Given the description of an element on the screen output the (x, y) to click on. 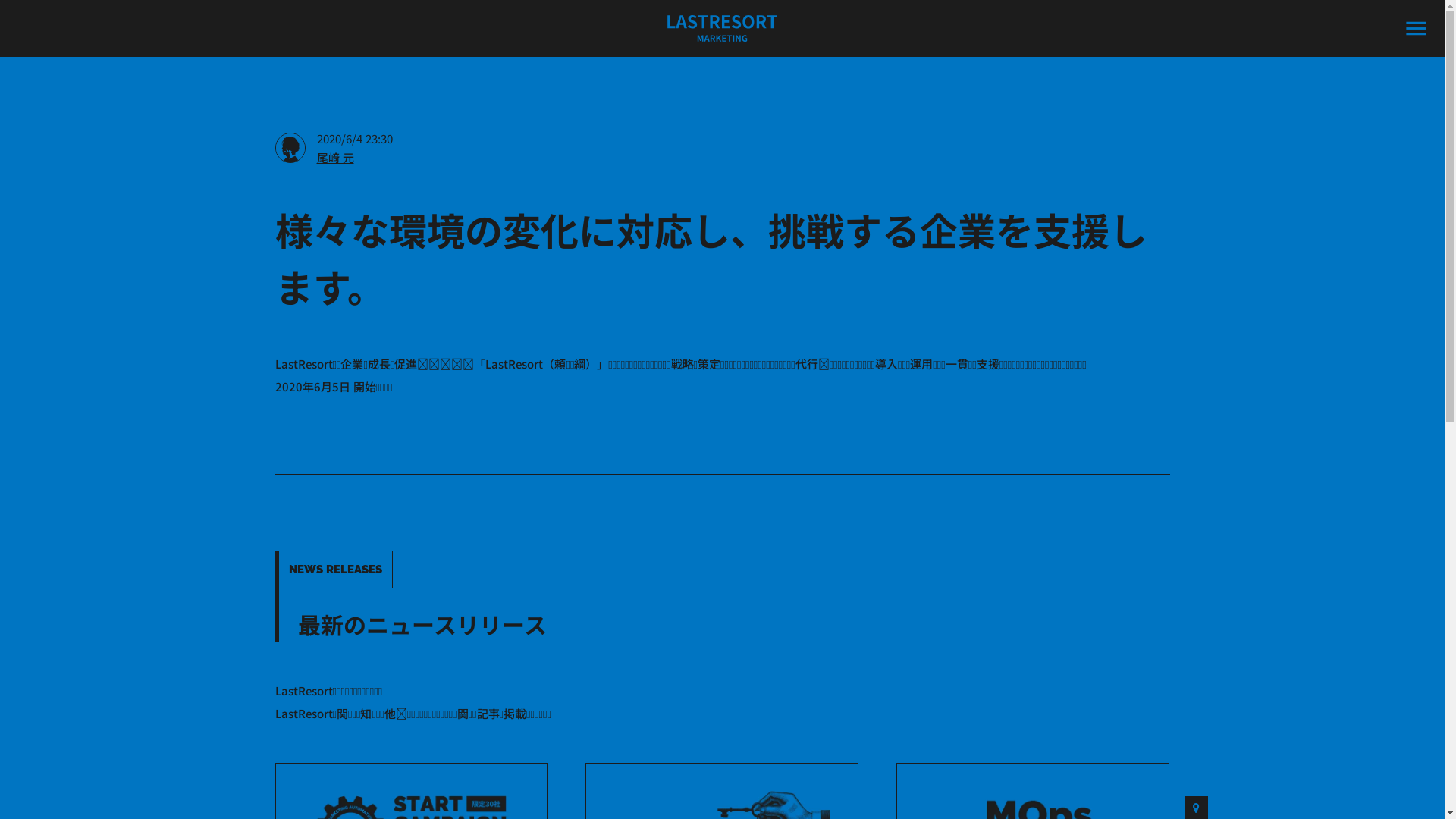
menu Element type: text (1415, 28)
